Given the description of an element on the screen output the (x, y) to click on. 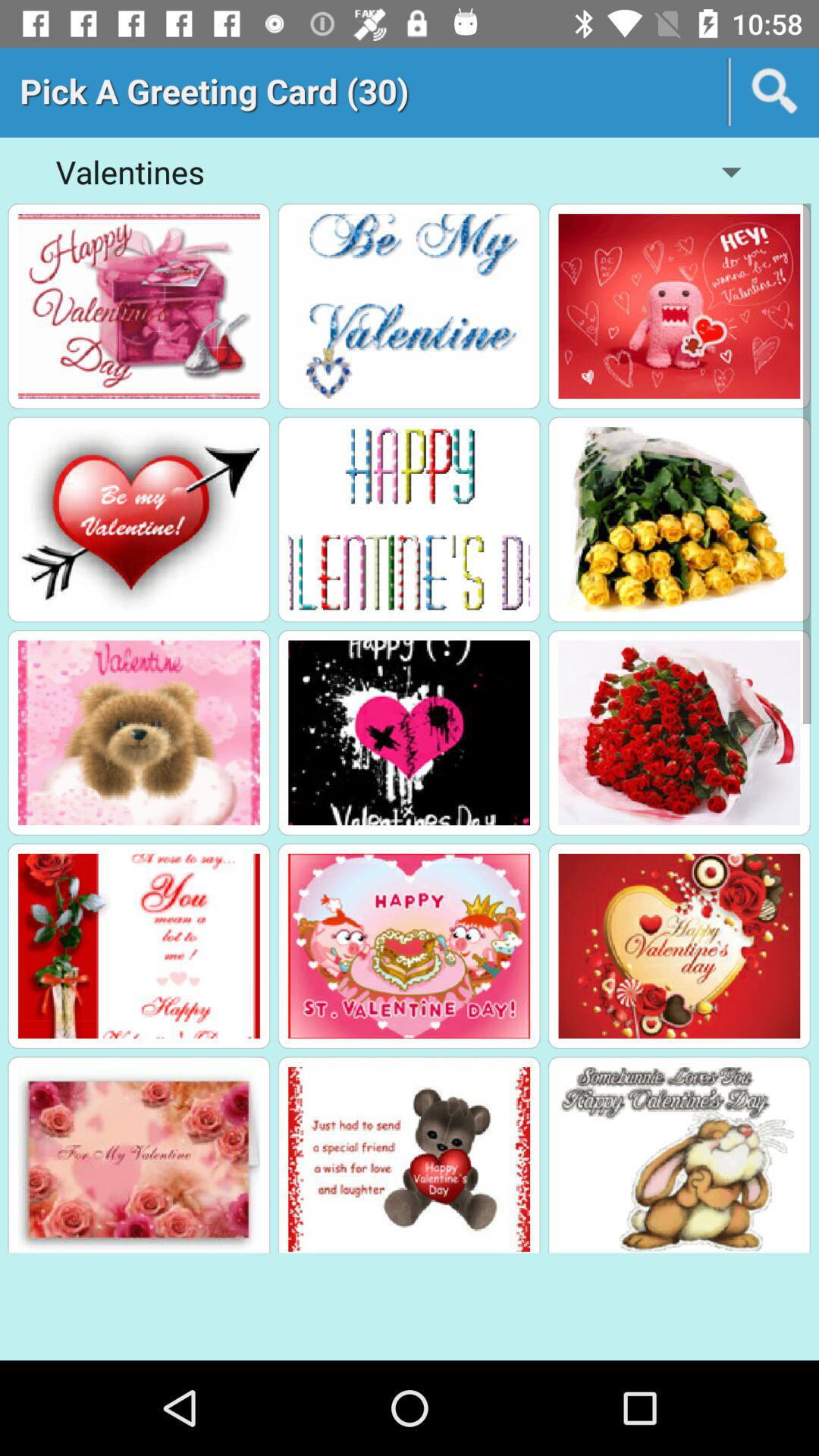
valentines (679, 519)
